Given the description of an element on the screen output the (x, y) to click on. 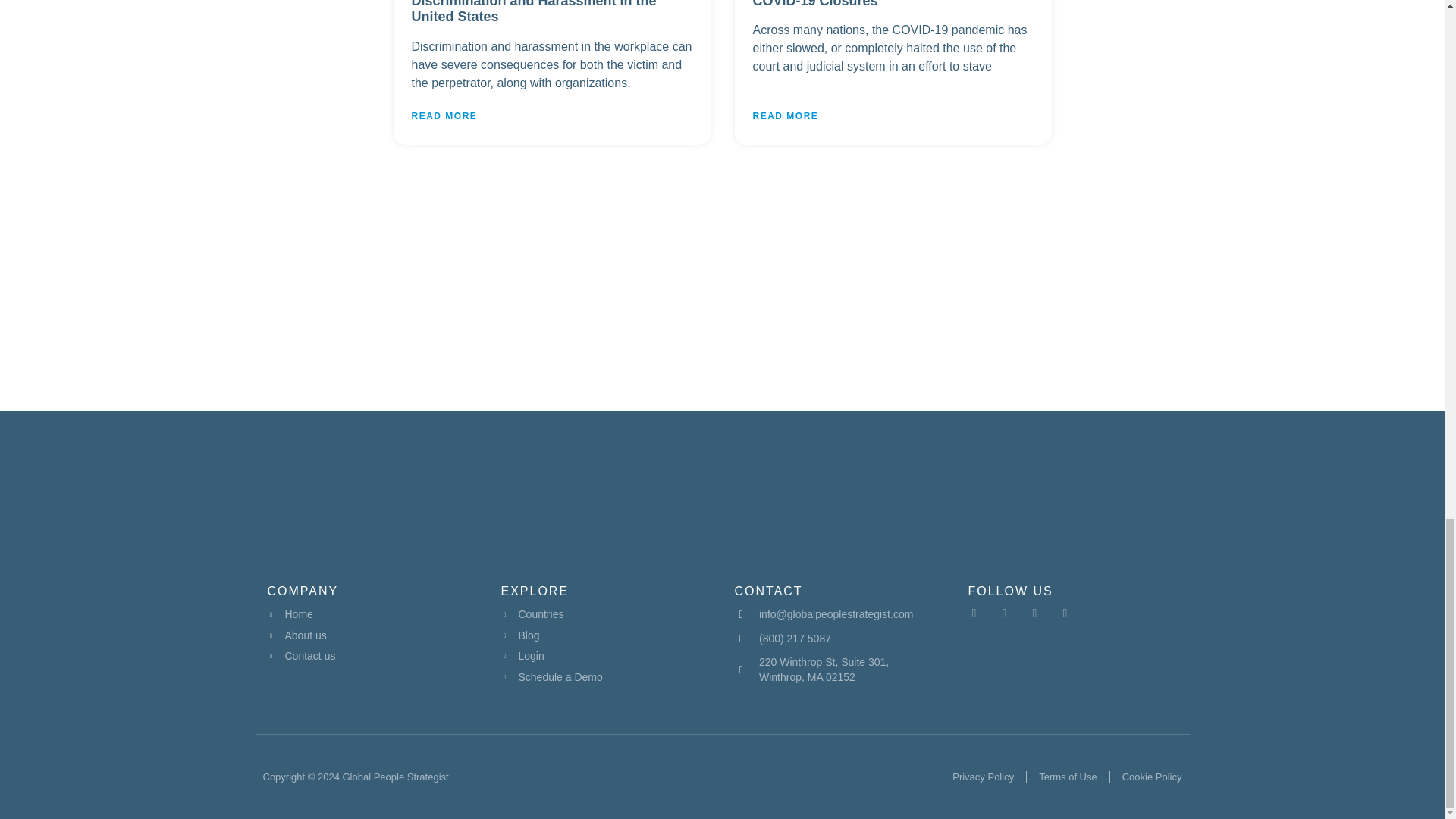
Schedule a Demo (605, 677)
Cookie Policy (1152, 776)
Countries (605, 614)
Blog (605, 635)
Home (371, 614)
READ MORE (785, 115)
About us (371, 635)
Terms of Use (1068, 776)
Privacy Policy (982, 776)
READ MORE (443, 115)
